Given the description of an element on the screen output the (x, y) to click on. 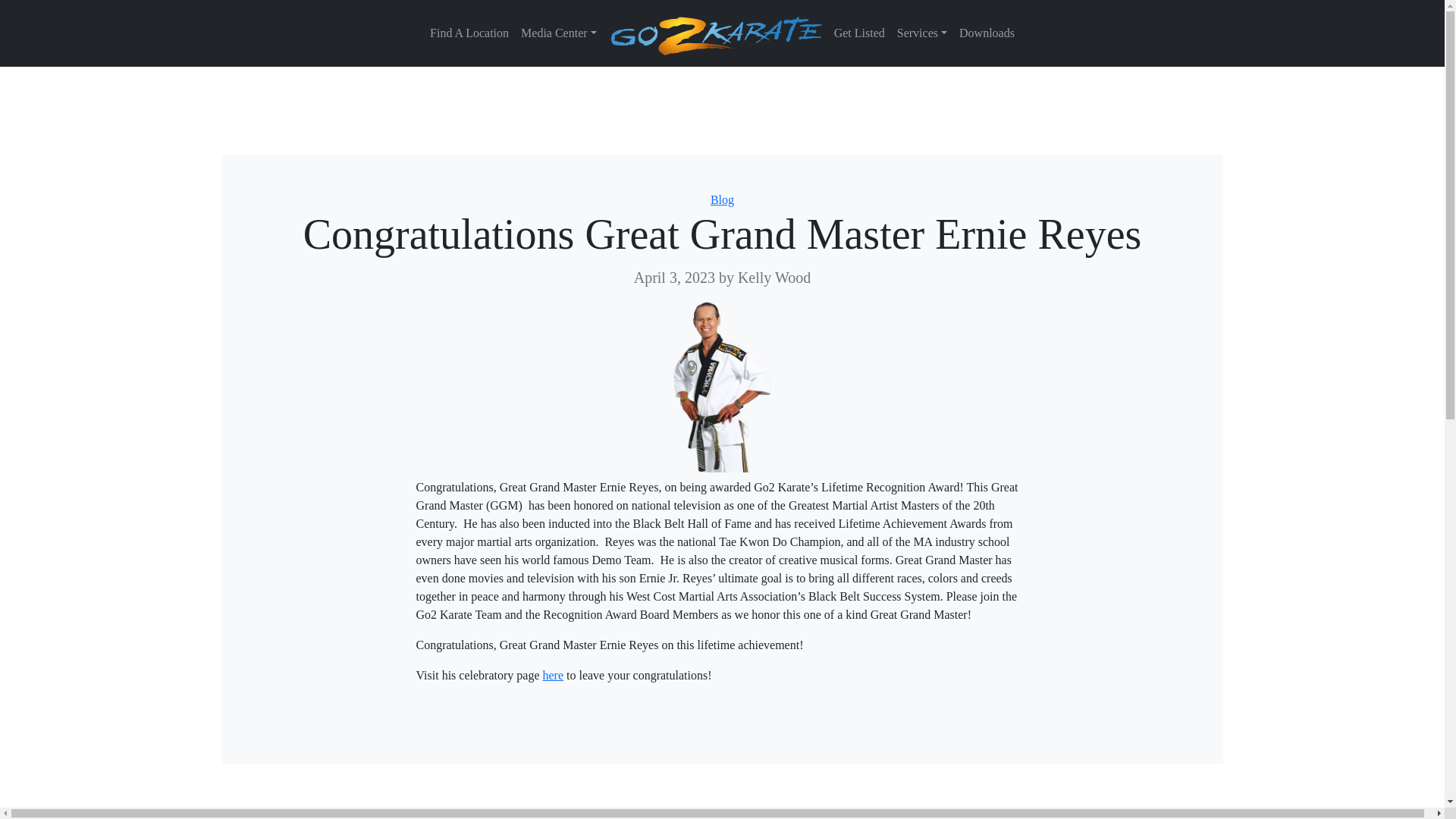
Find A Location (469, 33)
here (552, 675)
Downloads (986, 33)
Get Listed (859, 33)
Services (922, 33)
Blog (721, 199)
Media Center (558, 33)
